Given the description of an element on the screen output the (x, y) to click on. 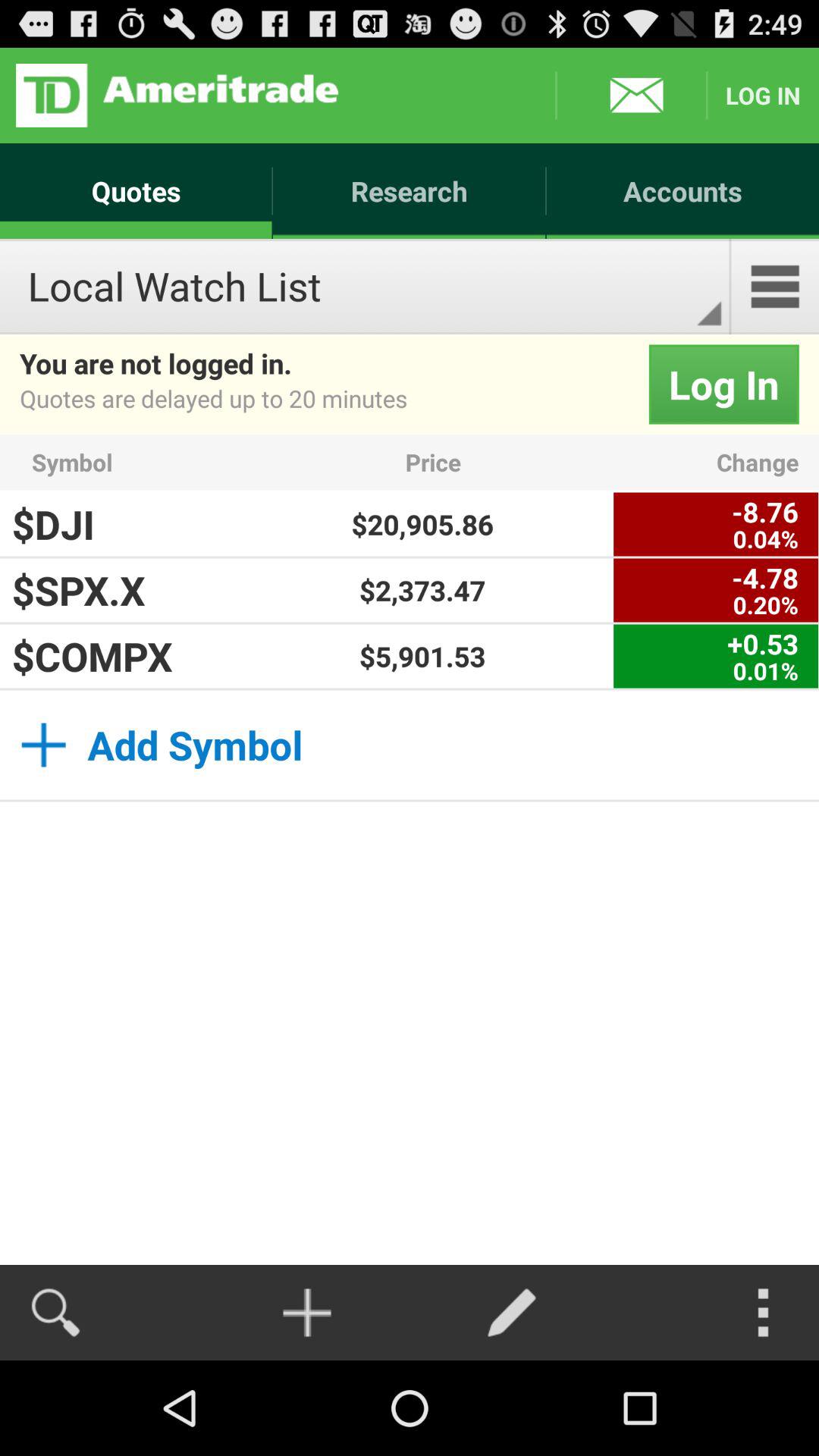
check messages (631, 95)
